Given the description of an element on the screen output the (x, y) to click on. 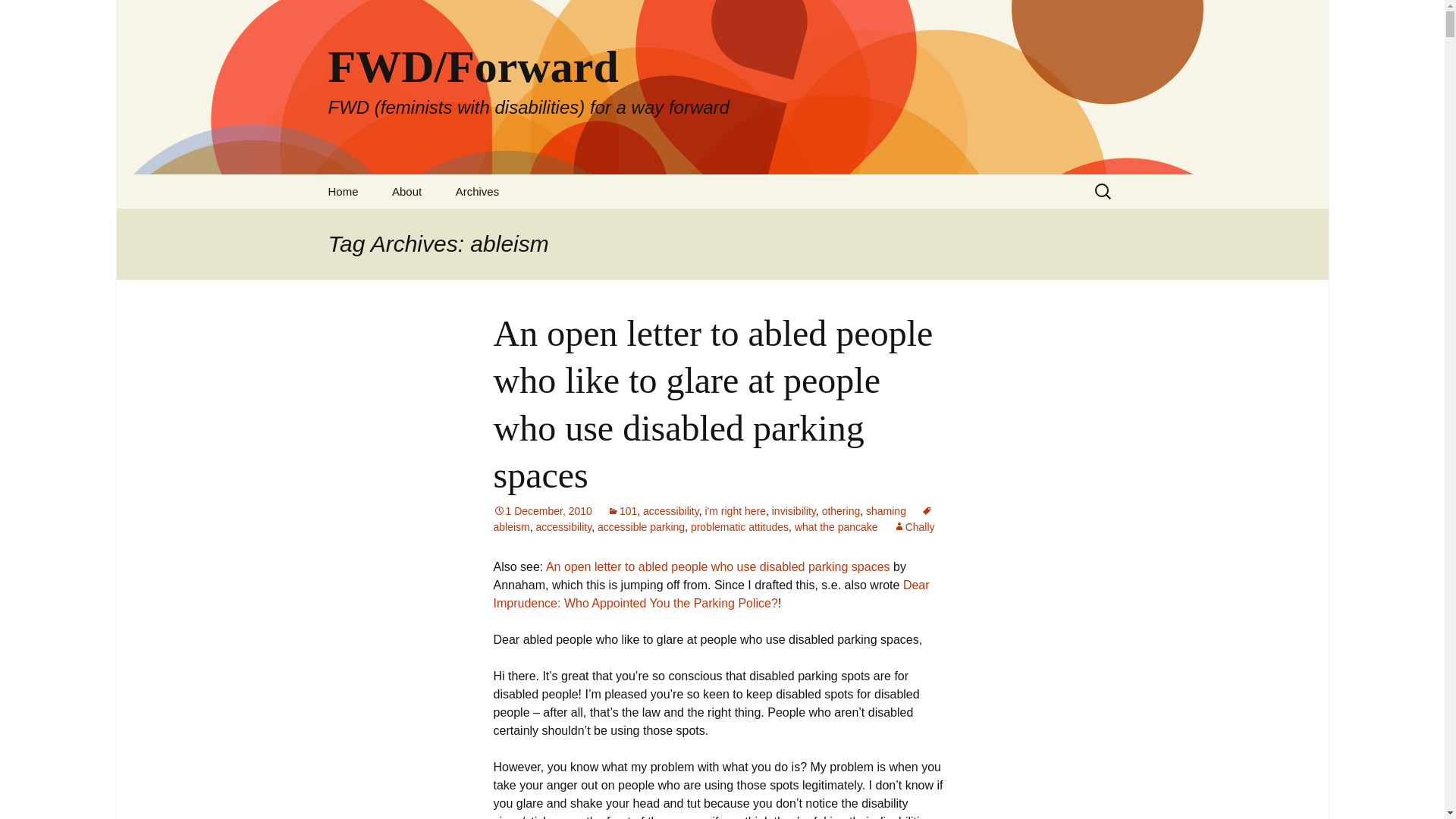
Dear Imprudence: Who Appointed You the Parking Police? (710, 593)
problematic attitudes (739, 526)
invisibility (793, 510)
accessible parking (640, 526)
Chally (913, 526)
Search (18, 15)
accessibility (563, 526)
ableism (713, 519)
